Given the description of an element on the screen output the (x, y) to click on. 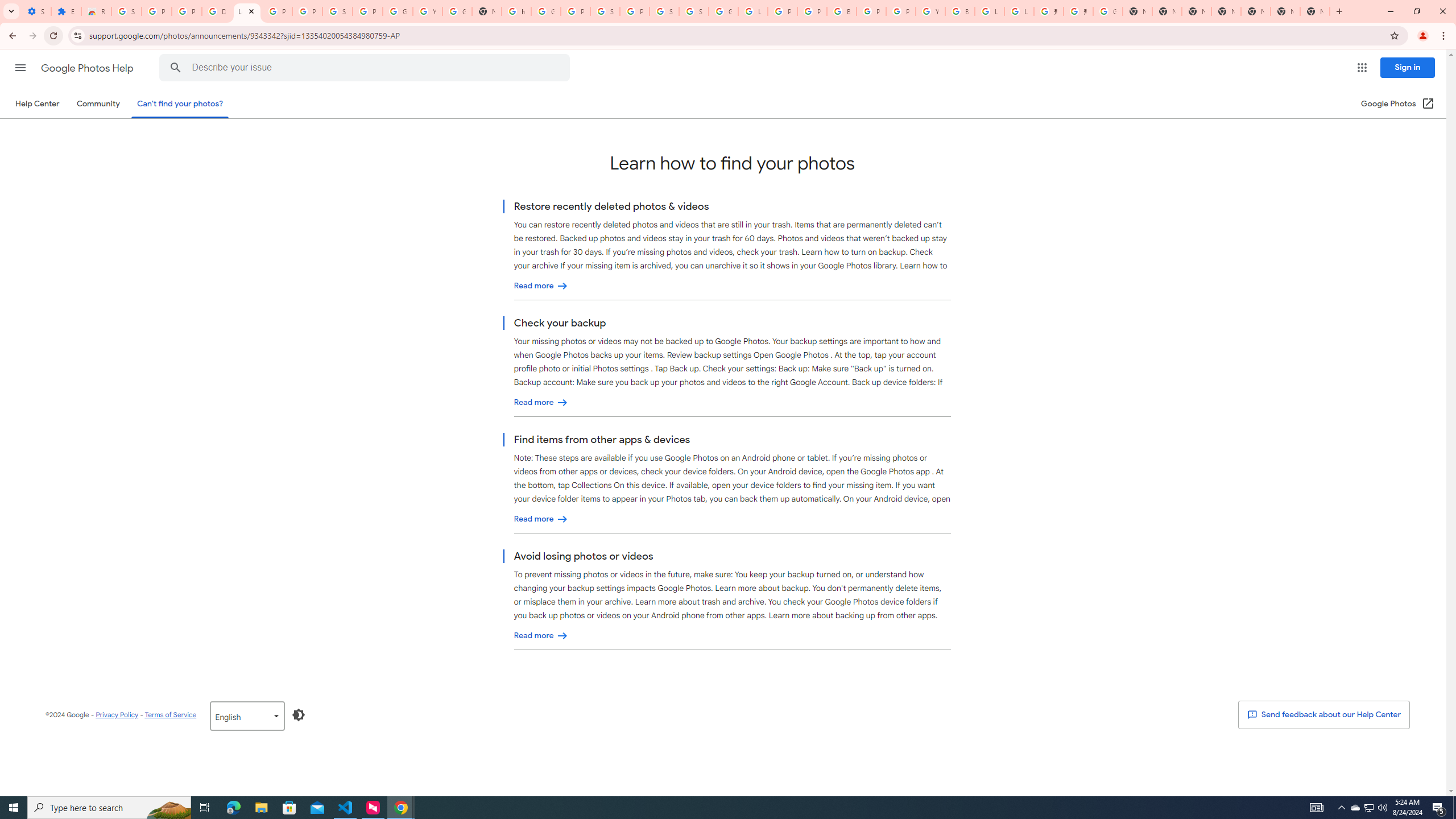
Delete photos & videos - Computer - Google Photos Help (216, 11)
https://scholar.google.com/ (515, 11)
Describe your issue (366, 67)
Find items from other apps & devices (541, 518)
Google Photos (Open in a new window) (1397, 103)
